Given the description of an element on the screen output the (x, y) to click on. 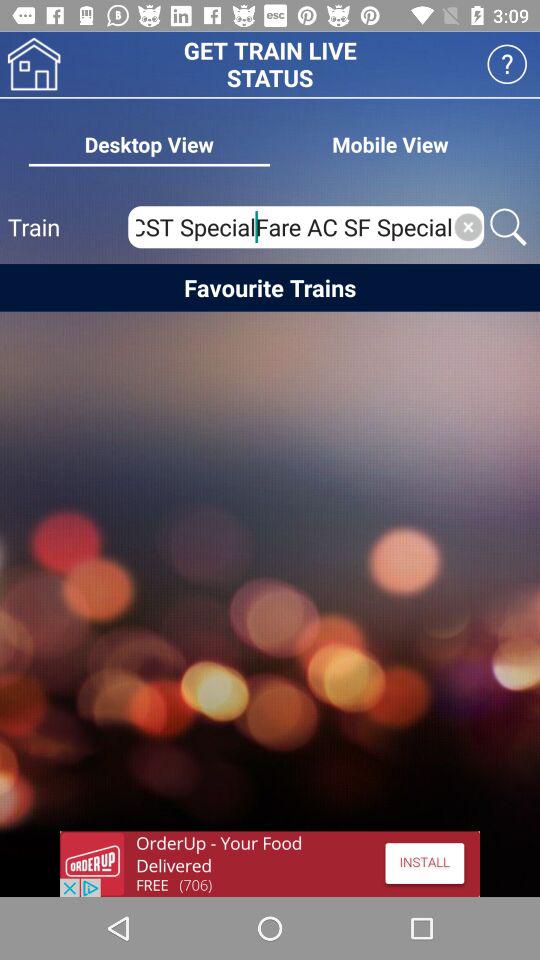
get help (506, 64)
